Given the description of an element on the screen output the (x, y) to click on. 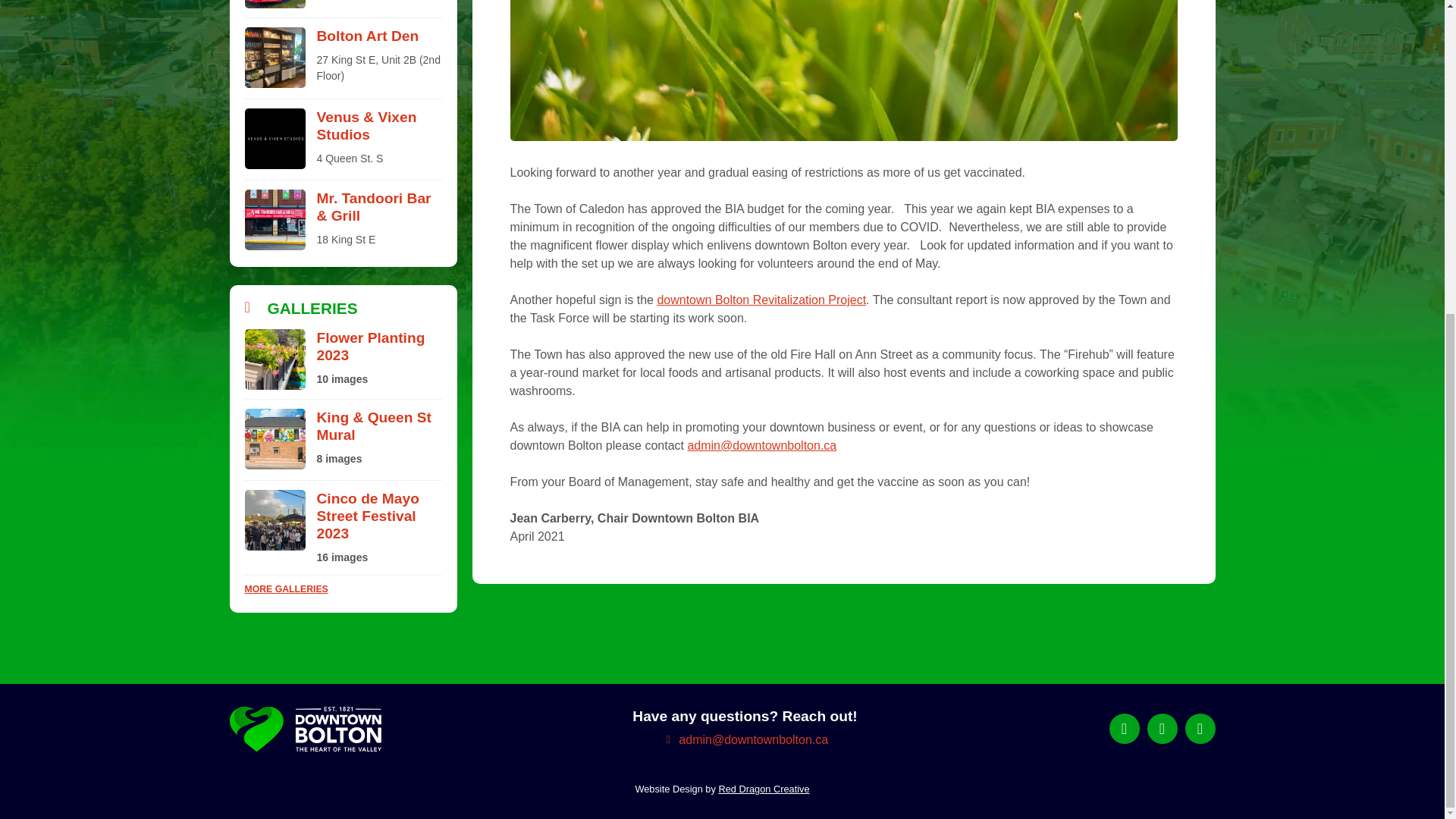
Terrace Pizza (274, 4)
Mr Tandoori (274, 219)
Cinco de Mayo Street Festival 2023 (274, 519)
Bolton Art Den 1 (274, 57)
Address (379, 68)
Bolton Art Den (368, 35)
Address (379, 158)
Flower Planting 2023 (274, 359)
spring flowers VRF6L5P (842, 70)
Address (379, 239)
